Given the description of an element on the screen output the (x, y) to click on. 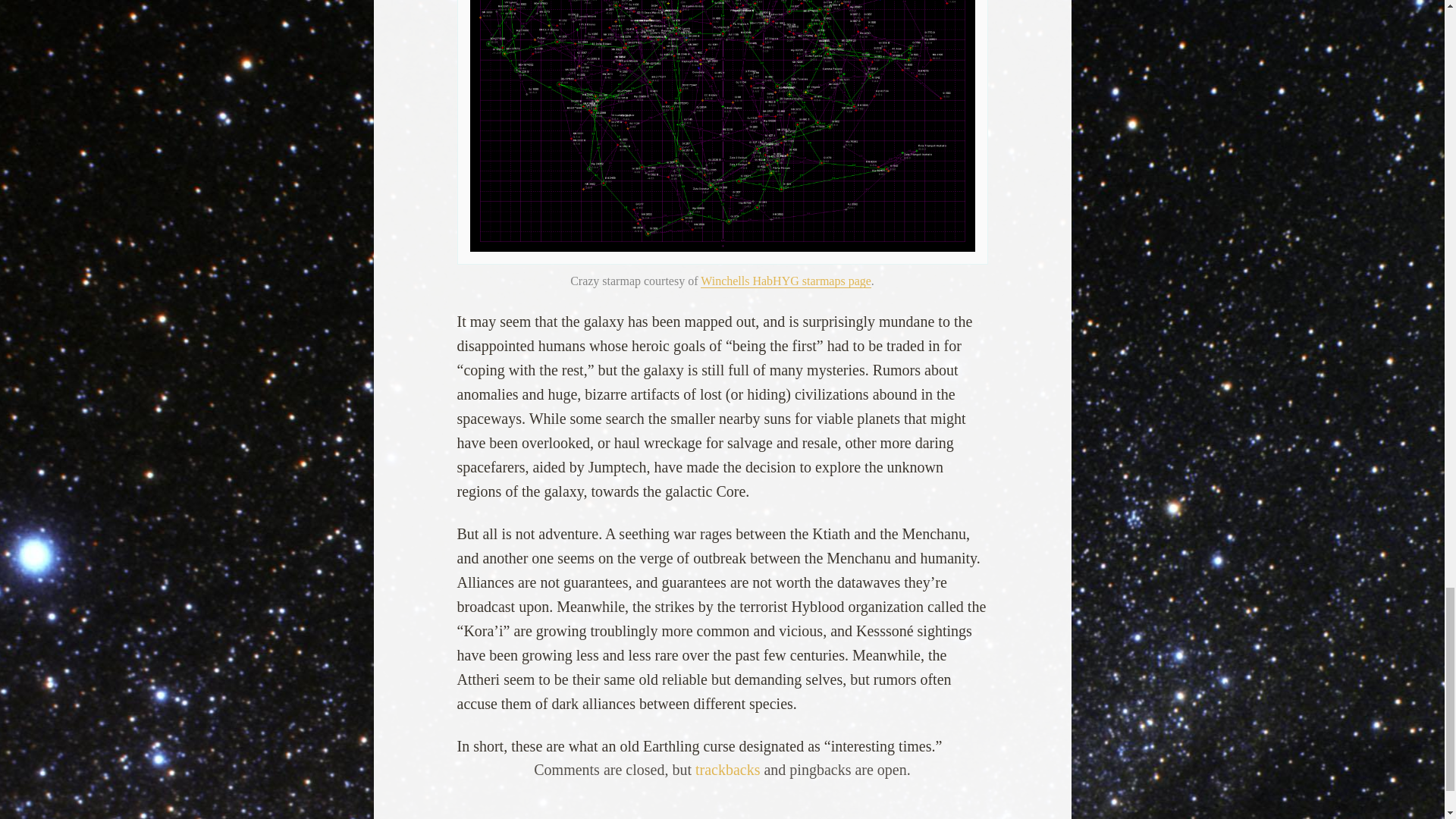
trackbacks (727, 769)
Winchells HabHYG starmaps page (785, 281)
